Given the description of an element on the screen output the (x, y) to click on. 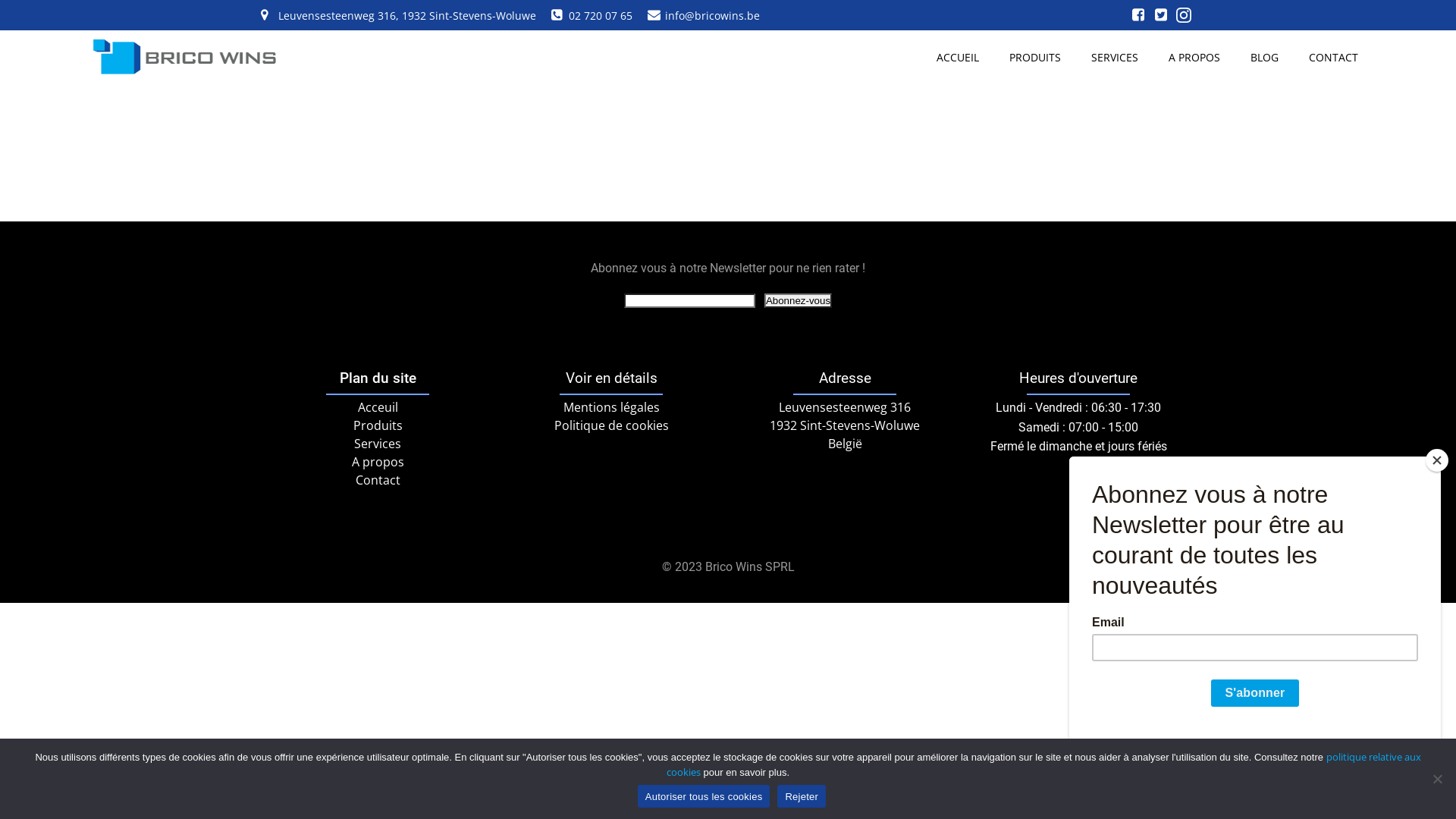
Leuvensesteenweg 316 Element type: text (844, 407)
A propos Element type: text (377, 461)
1932 Sint-Stevens-Woluwe Element type: text (844, 425)
Abonnez-vous Element type: text (797, 300)
Acceuil Element type: text (377, 407)
Autoriser tous les cookies Element type: text (703, 795)
SERVICES Element type: text (1114, 57)
Adresse Element type: text (844, 378)
Leuvensesteenweg 316, 1932 Sint-Stevens-Woluwe Element type: text (398, 14)
info@bricowins.be Element type: text (703, 14)
02 720 07 65 Element type: text (591, 14)
politique relative aux cookies Element type: text (1043, 763)
A PROPOS Element type: text (1194, 57)
Produits Element type: text (377, 425)
Rejeter Element type: hover (1436, 778)
Services Element type: text (377, 443)
Contact Element type: text (376, 479)
ACCUEIL Element type: text (957, 57)
Politique de cookies Element type: text (610, 425)
BLOG Element type: text (1264, 57)
CONTACT Element type: text (1333, 57)
PRODUITS Element type: text (1034, 57)
Rejeter Element type: text (801, 795)
